Given the description of an element on the screen output the (x, y) to click on. 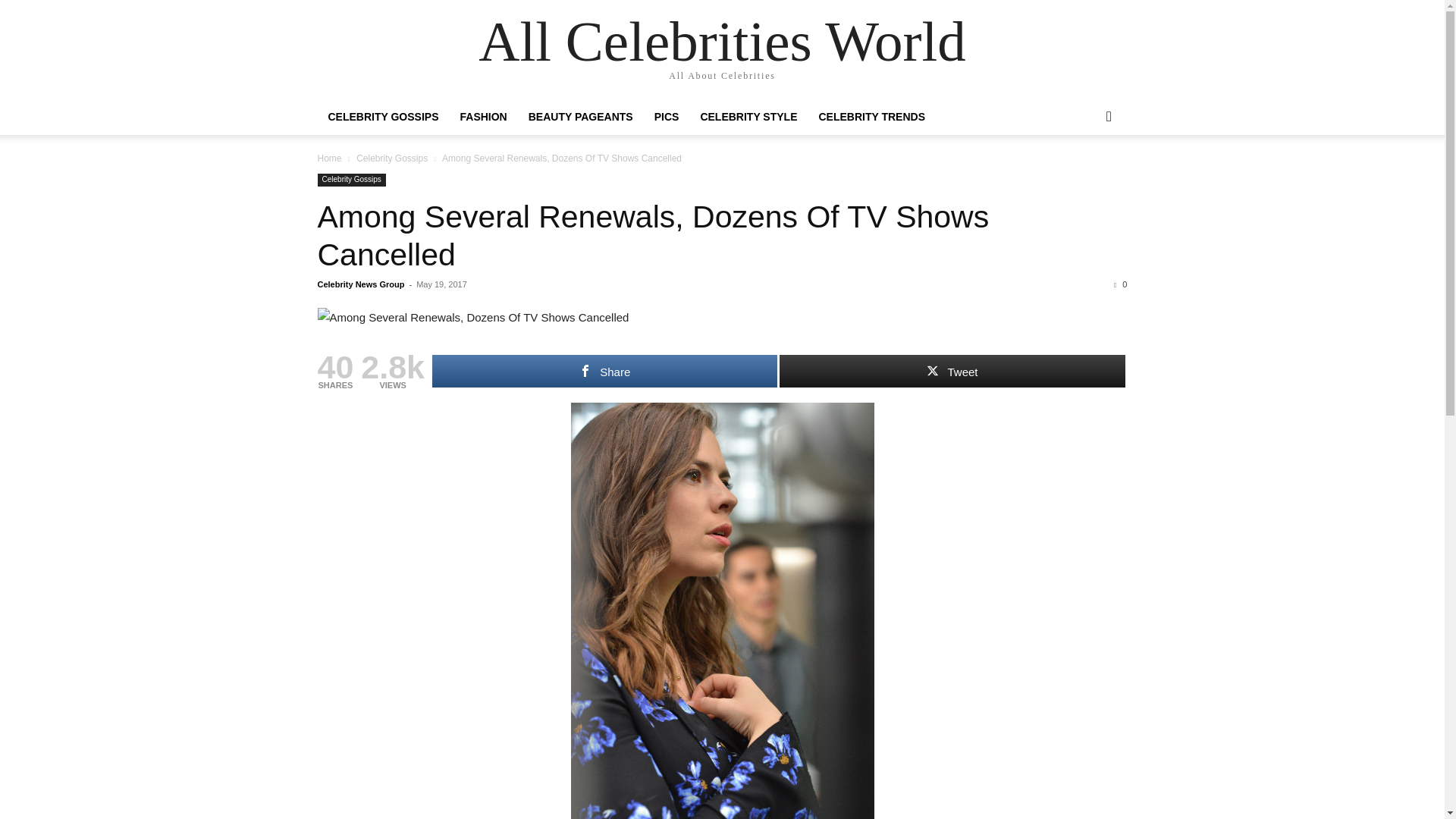
Celebrity News Group (360, 284)
CELEBRITY TRENDS (872, 116)
Among Several Renewals, Dozens Of TV Shows Cancelled (721, 317)
FASHION (482, 116)
Share (604, 370)
CELEBRITY GOSSIPS (382, 116)
Celebrity Gossips (392, 158)
Among Several Renewals, Dozens Of TV Shows Cancelled (652, 235)
View all posts in Celebrity Gossips (392, 158)
Home (328, 158)
Celebrity Gossips (351, 179)
Among Several Renewals, Dozens Of TV Shows Cancelled (652, 235)
Search (1085, 177)
All Celebrities World (722, 41)
BEAUTY PAGEANTS (580, 116)
